Given the description of an element on the screen output the (x, y) to click on. 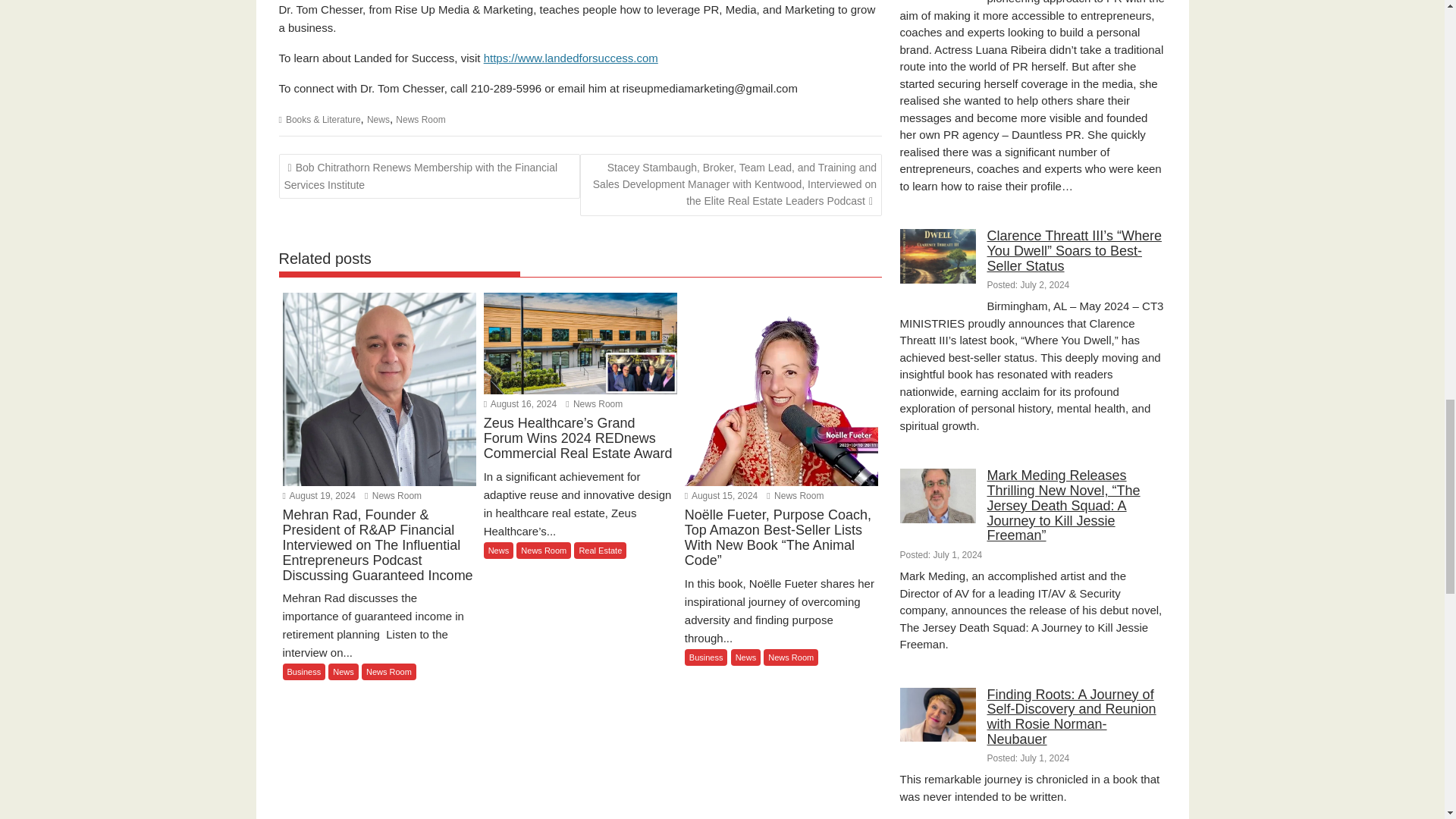
News Room (393, 495)
News Room (420, 119)
News Room (393, 495)
News Room (594, 403)
August 19, 2024 (318, 495)
Business (303, 671)
News (378, 119)
News Room (795, 495)
